Given the description of an element on the screen output the (x, y) to click on. 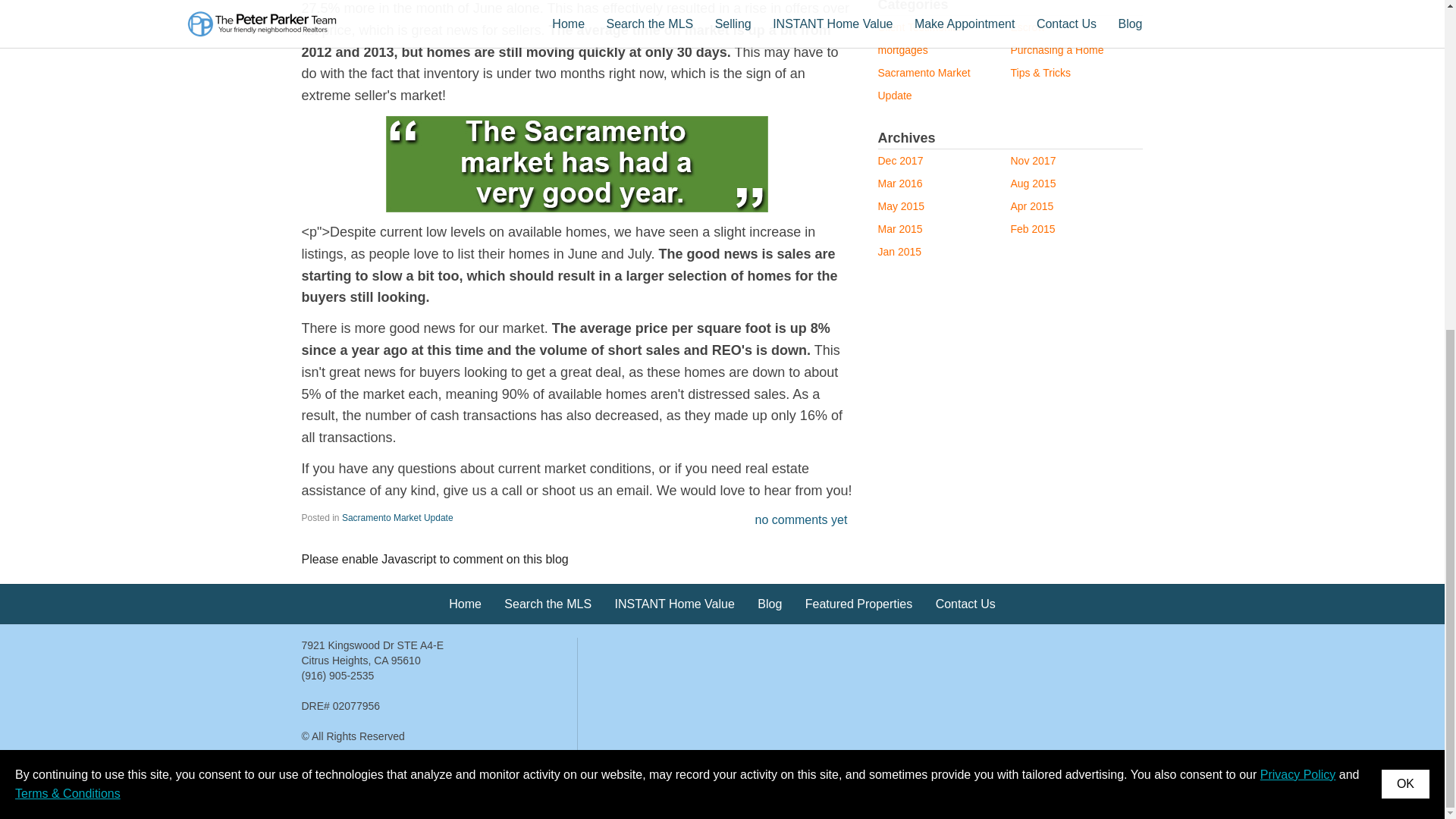
Aug 2015 (1032, 183)
mortgages (902, 50)
Purchasing a Home (1056, 50)
Jan 2015 (899, 251)
Mar 2016 (900, 183)
May 2015 (900, 205)
Apr 2015 (1031, 205)
Escrow (1027, 27)
Client Testimonial (918, 27)
Sacramento Market Update (397, 517)
